Given the description of an element on the screen output the (x, y) to click on. 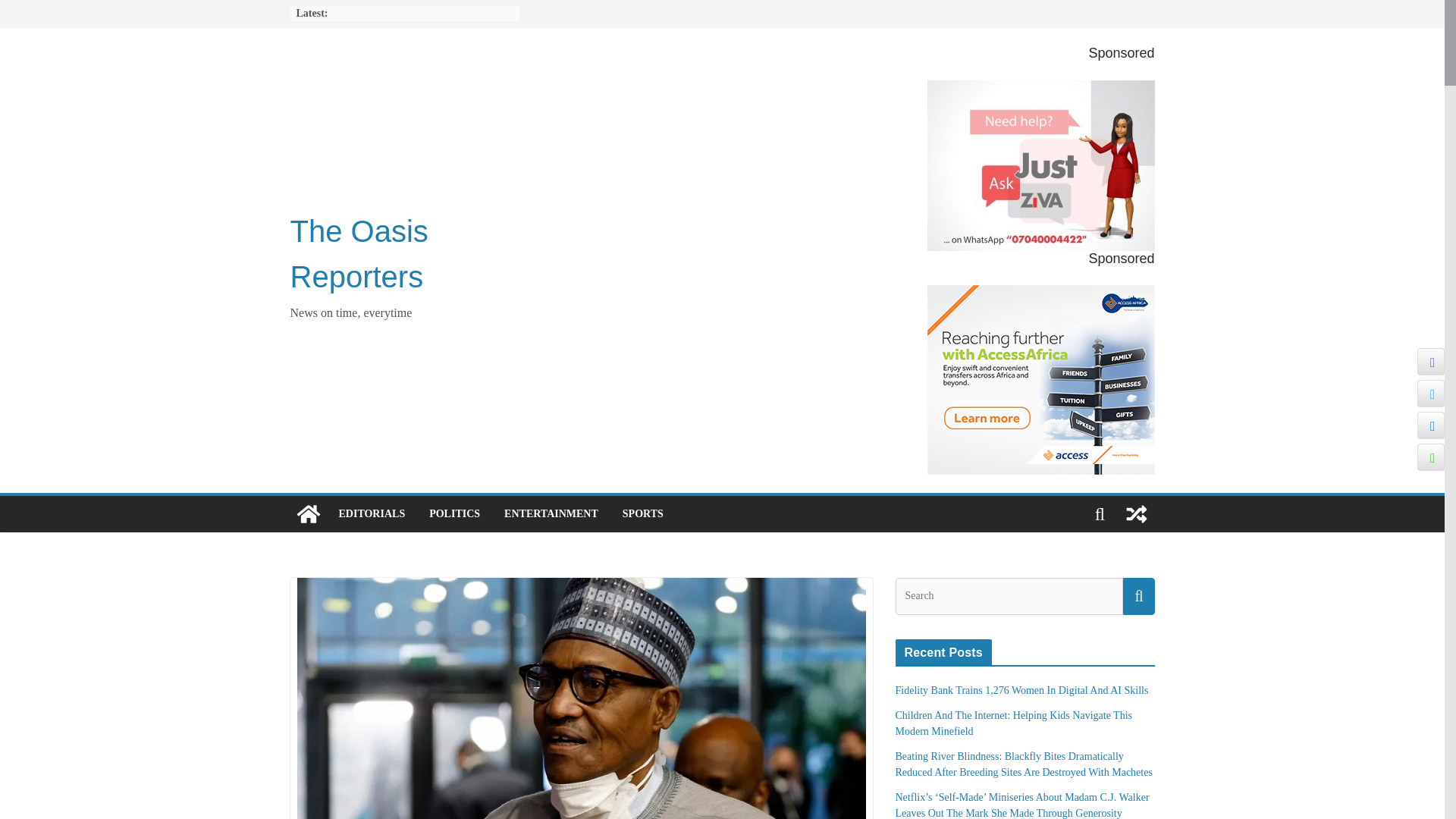
View a random post (1136, 514)
SPORTS (643, 513)
The Oasis Reporters (358, 253)
EDITORIALS (370, 513)
ENTERTAINMENT (550, 513)
POLITICS (454, 513)
The Oasis Reporters (307, 514)
The Oasis Reporters (358, 253)
